Given the description of an element on the screen output the (x, y) to click on. 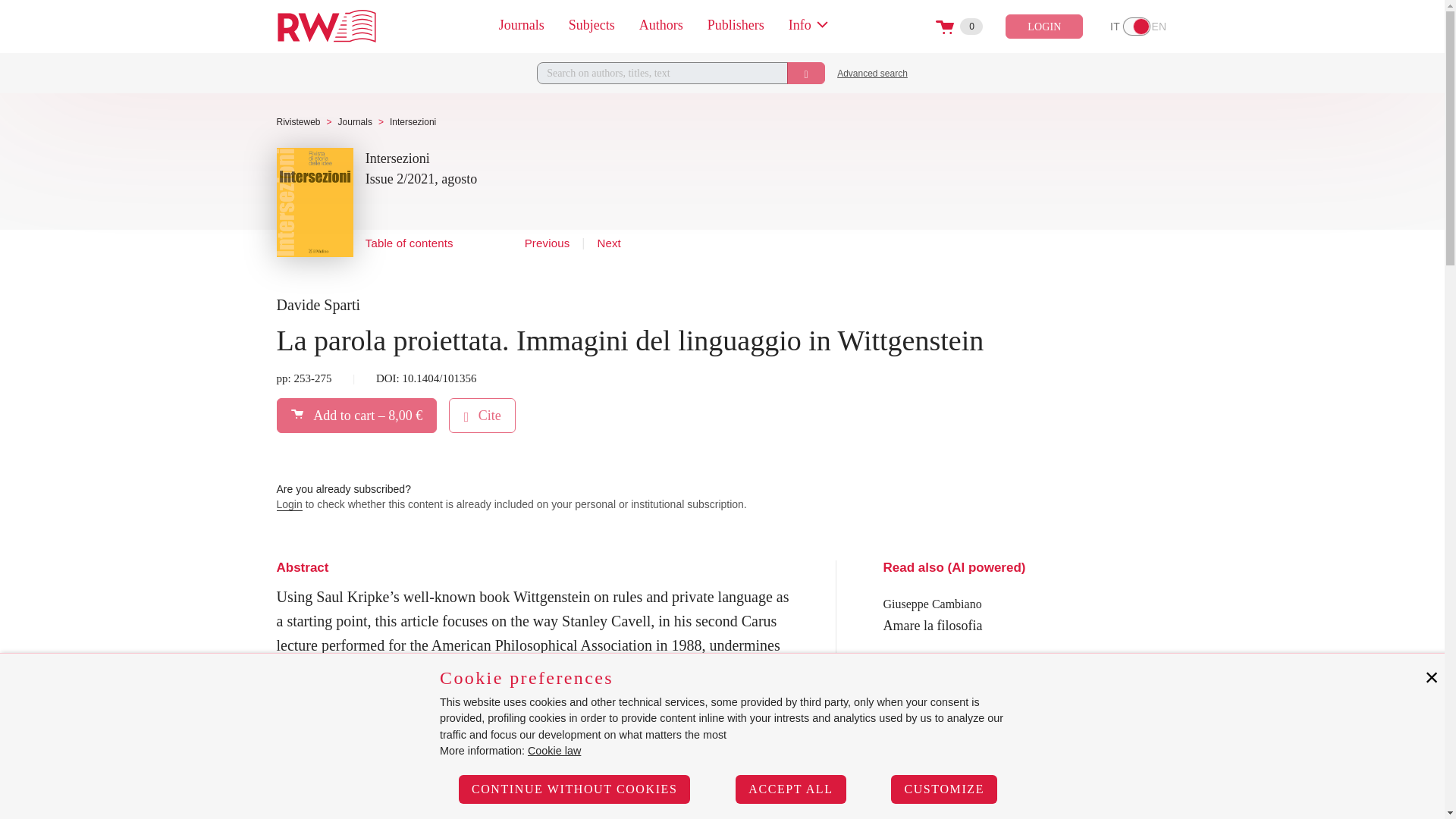
Intersezioni (397, 158)
Advanced search (872, 72)
Rivisteweb Home (325, 25)
Journals (354, 122)
Show previous article (547, 243)
LOGIN (1044, 26)
Davide Sparti (317, 305)
Next (1137, 26)
Show next article (608, 243)
